Given the description of an element on the screen output the (x, y) to click on. 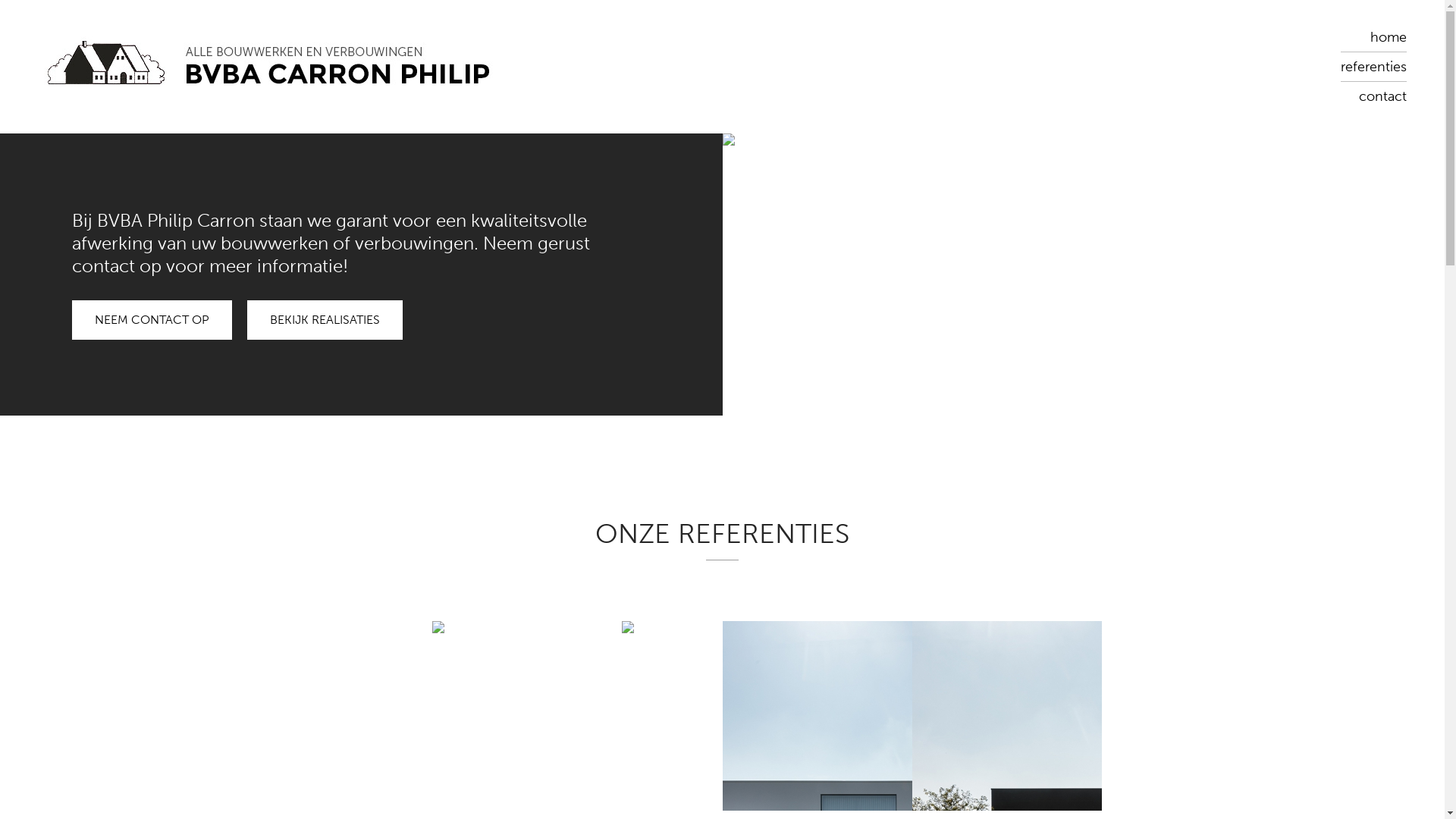
home Element type: text (1388, 36)
referenties Element type: text (1373, 66)
contact Element type: text (1382, 95)
